Given the description of an element on the screen output the (x, y) to click on. 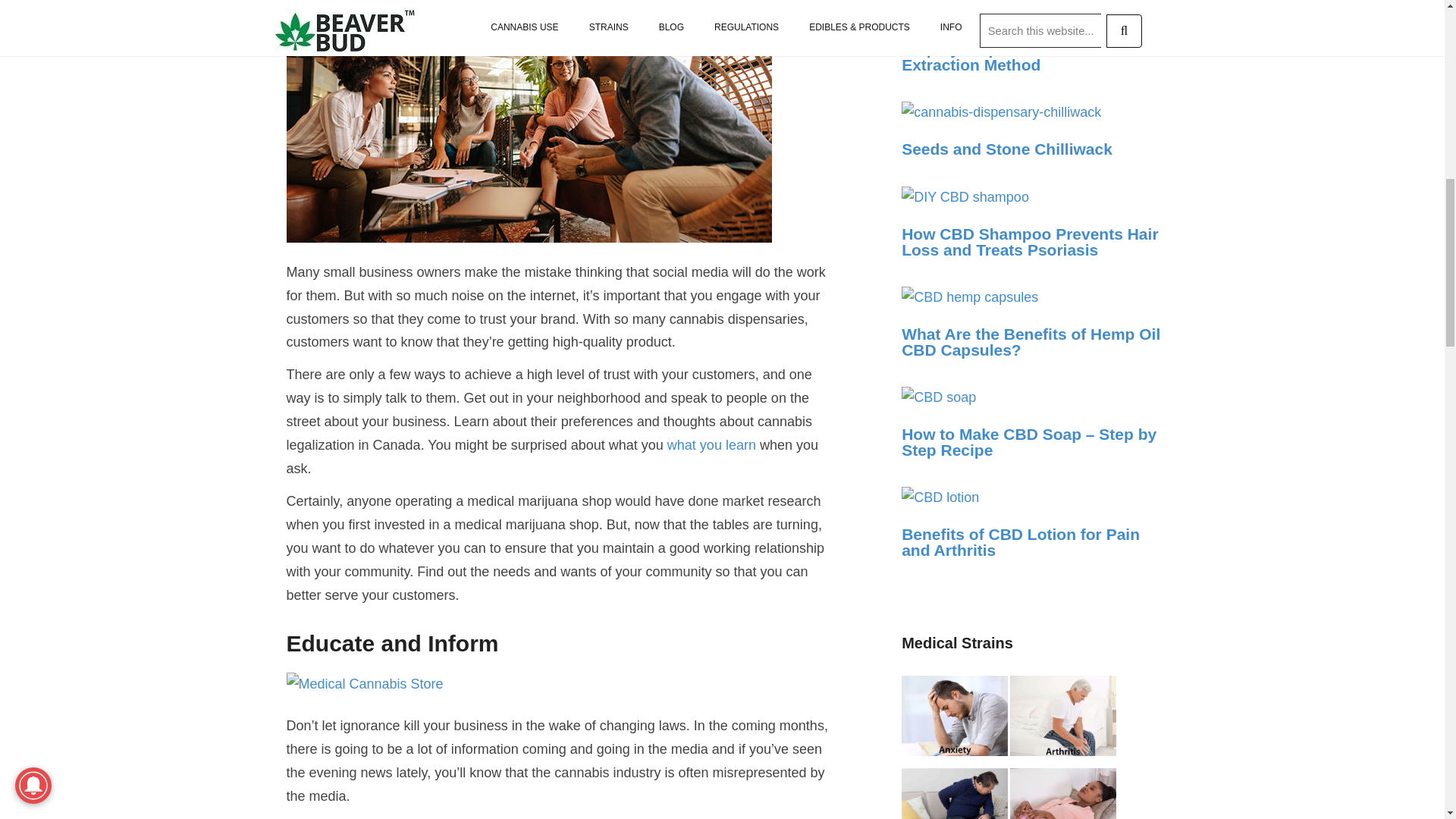
what you learn (710, 444)
